Given the description of an element on the screen output the (x, y) to click on. 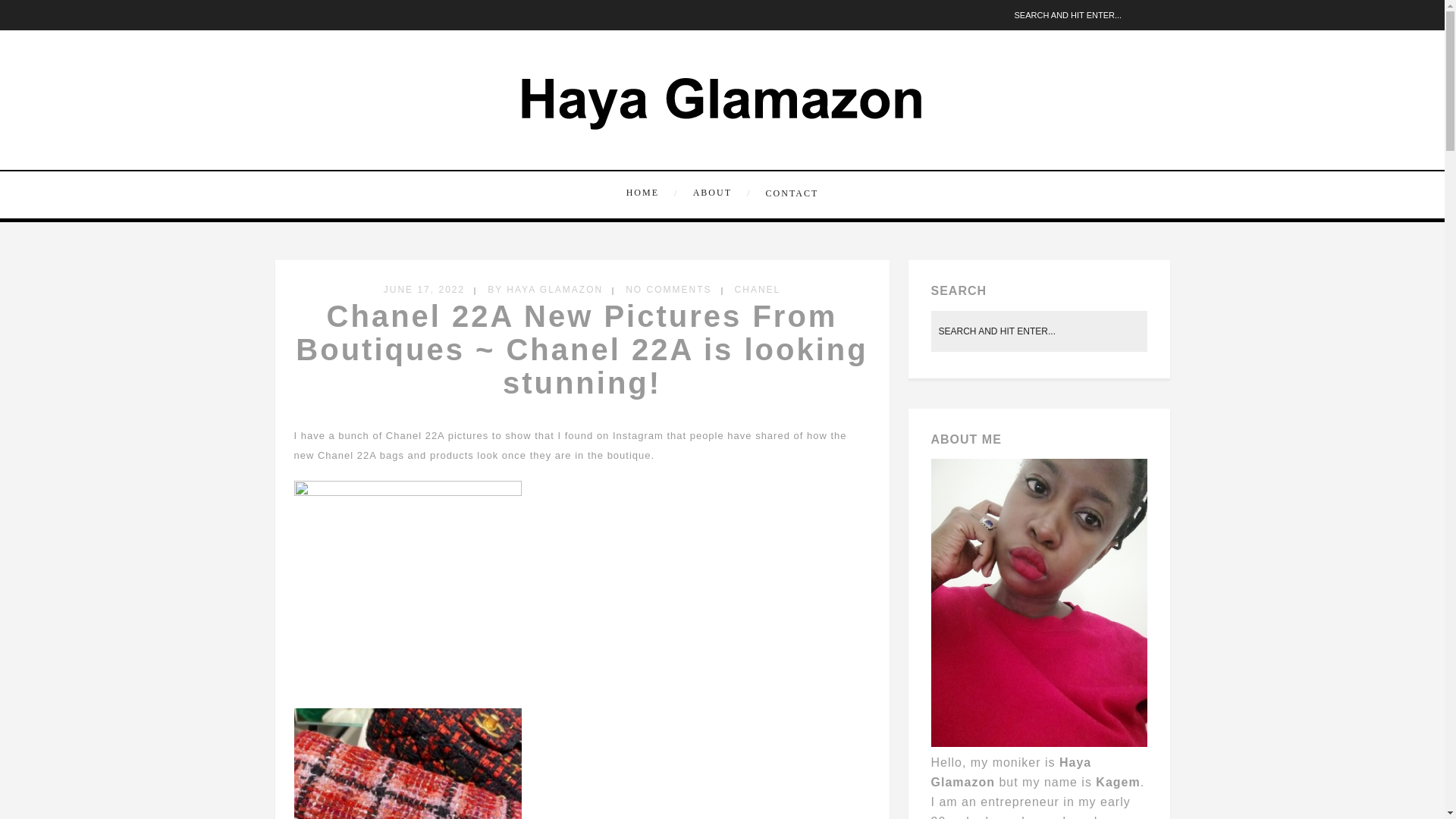
Search and hit enter... (1088, 14)
Search and hit enter... (1039, 331)
NO COMMENTS (668, 289)
ABOUT (719, 192)
CHANEL (757, 289)
Instagram (309, 15)
Twitter (286, 15)
JUNE 17, 2022 (424, 289)
CONTACT (788, 192)
Facebook (332, 15)
Youtube (357, 15)
BY HAYA GLAMAZON (544, 289)
HOME (653, 192)
